Given the description of an element on the screen output the (x, y) to click on. 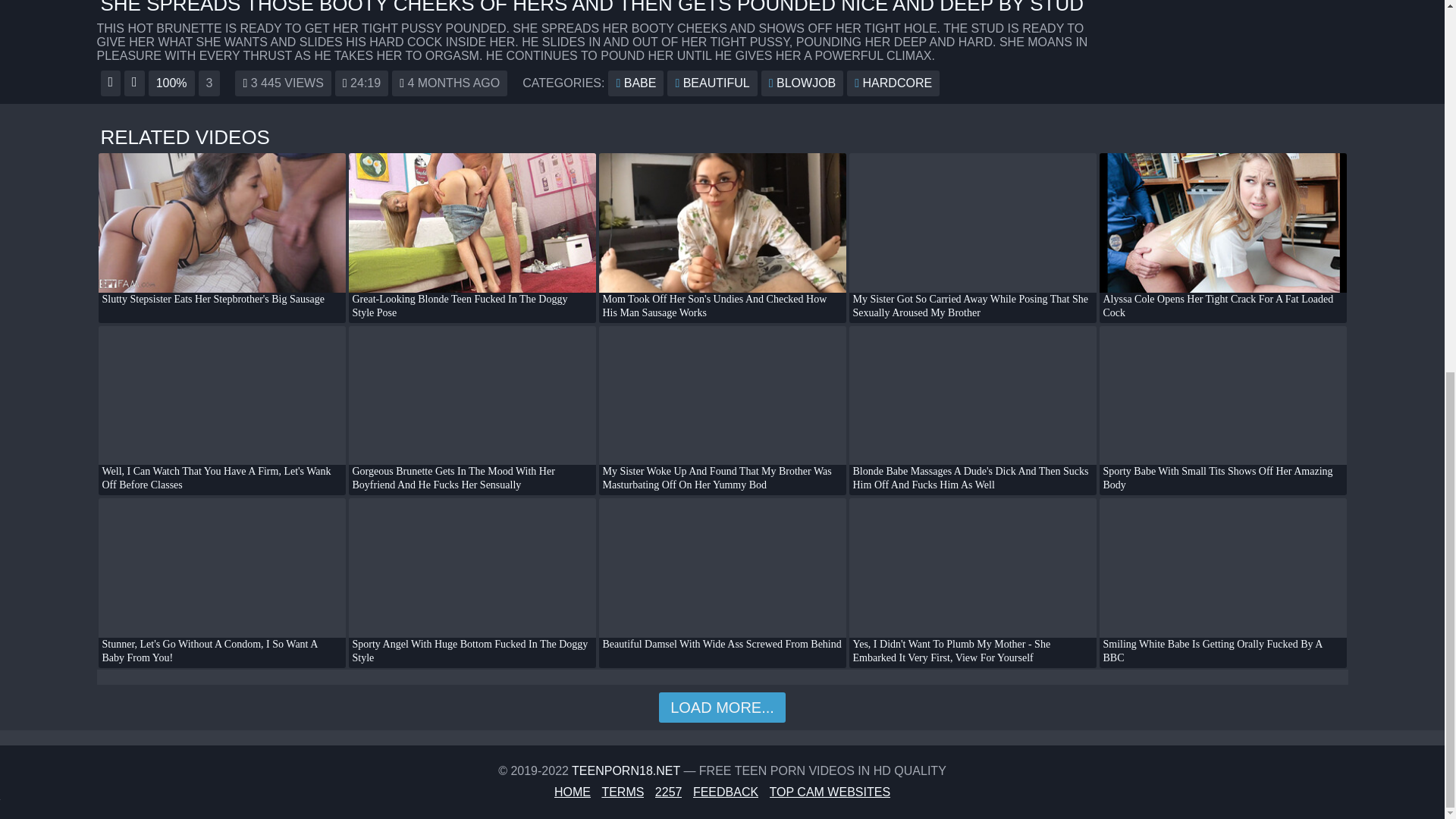
Sporty Angel With Huge Bottom Fucked In The Doggy Style (472, 582)
BEAUTIFUL (711, 83)
BABE (635, 83)
HARDCORE (893, 83)
BLOWJOB (802, 83)
Sporty Babe With Small Tits Shows Off Her Amazing Body (1222, 410)
